Given the description of an element on the screen output the (x, y) to click on. 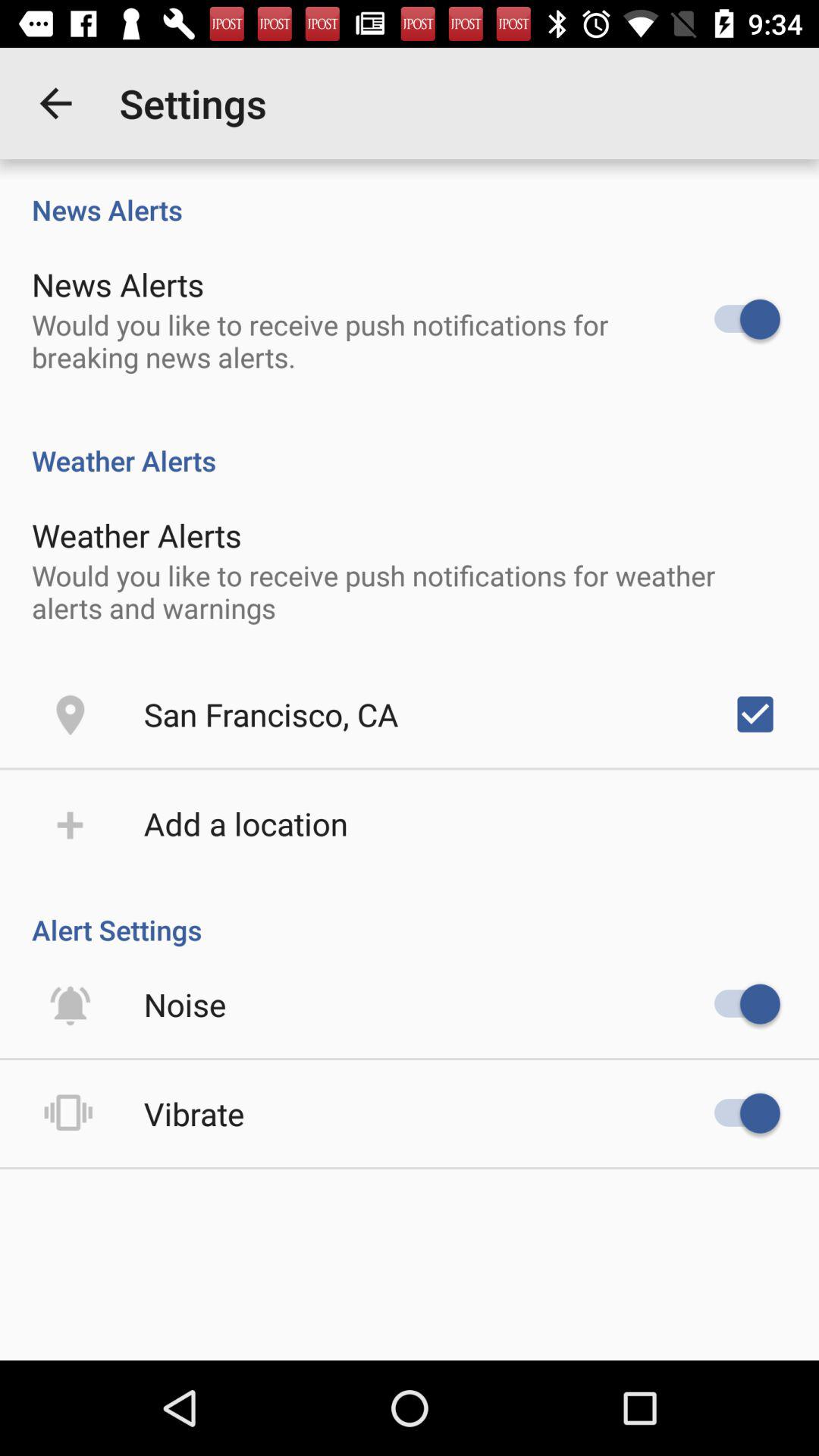
turn off app next to settings  icon (55, 103)
